Given the description of an element on the screen output the (x, y) to click on. 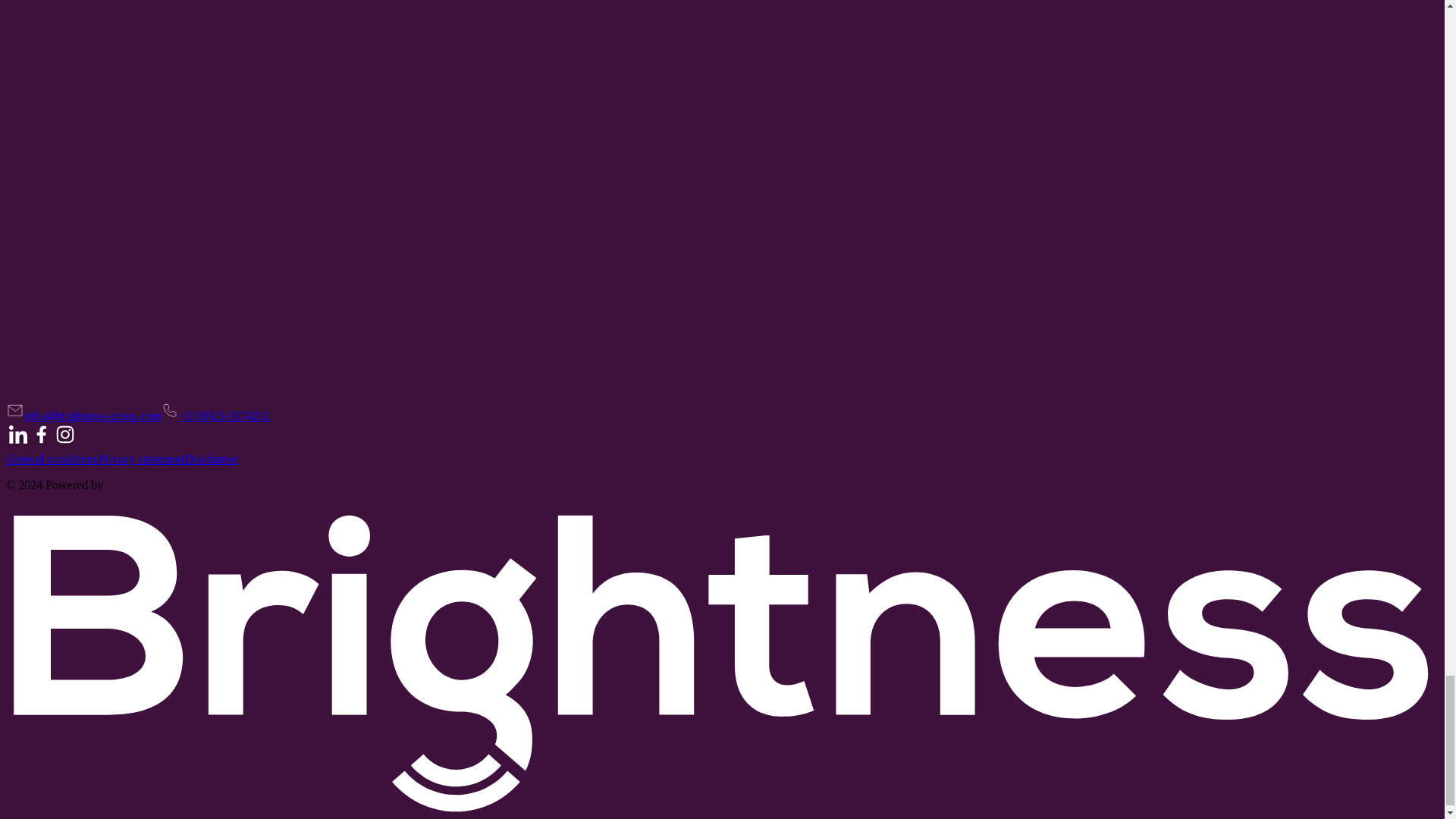
General conditions (51, 459)
Disclaimer (210, 459)
Privacy statement (140, 459)
